Given the description of an element on the screen output the (x, y) to click on. 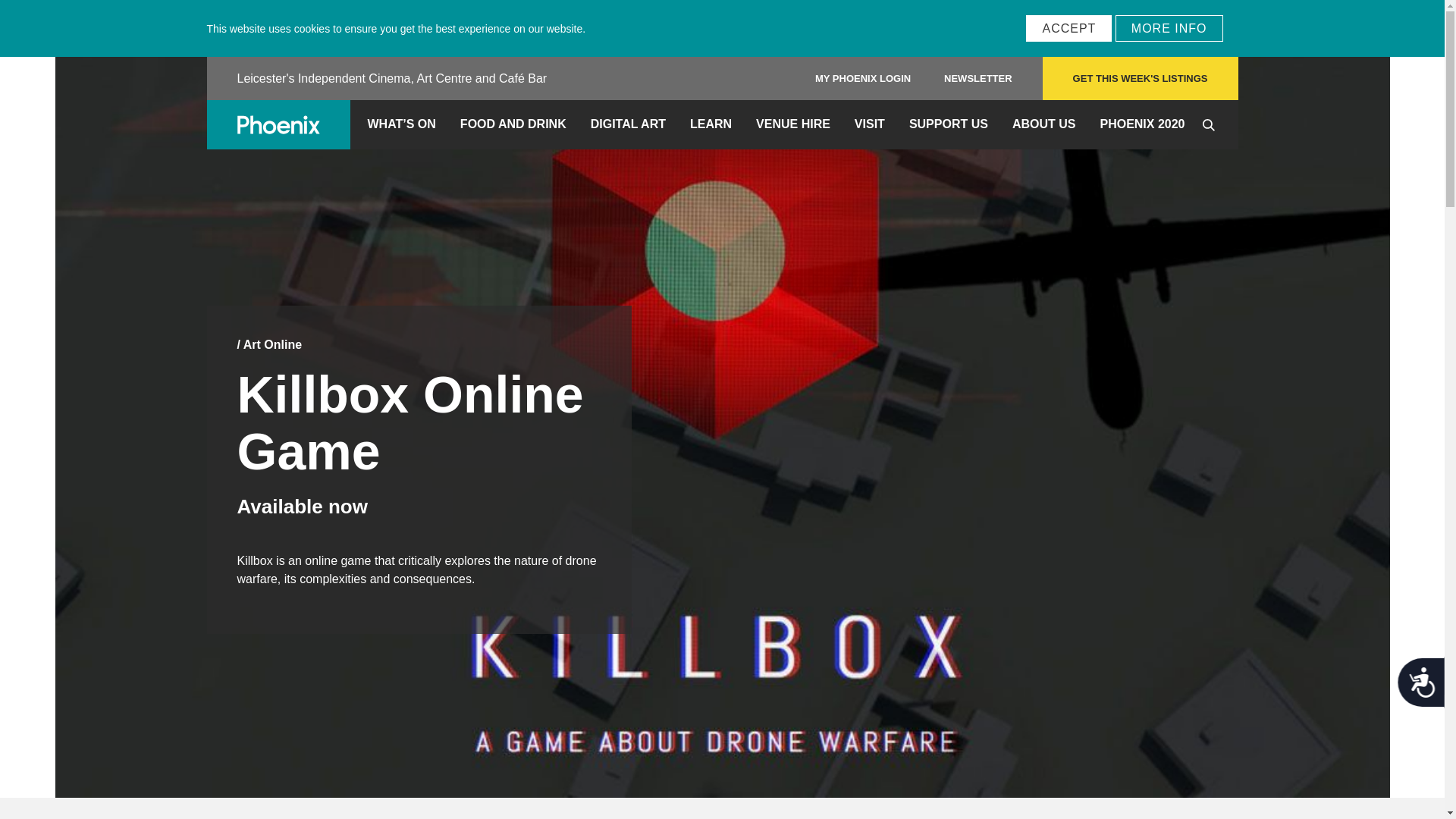
DIGITAL ART (628, 124)
GET THIS WEEK'S LISTINGS (1140, 77)
MORE INFO (1169, 28)
ACCEPT (1069, 28)
VENUE HIRE (793, 124)
NEWSLETTER (977, 78)
LEARN (711, 124)
VISIT (869, 124)
FOOD AND DRINK (513, 124)
MY PHOENIX LOGIN (862, 78)
